Given the description of an element on the screen output the (x, y) to click on. 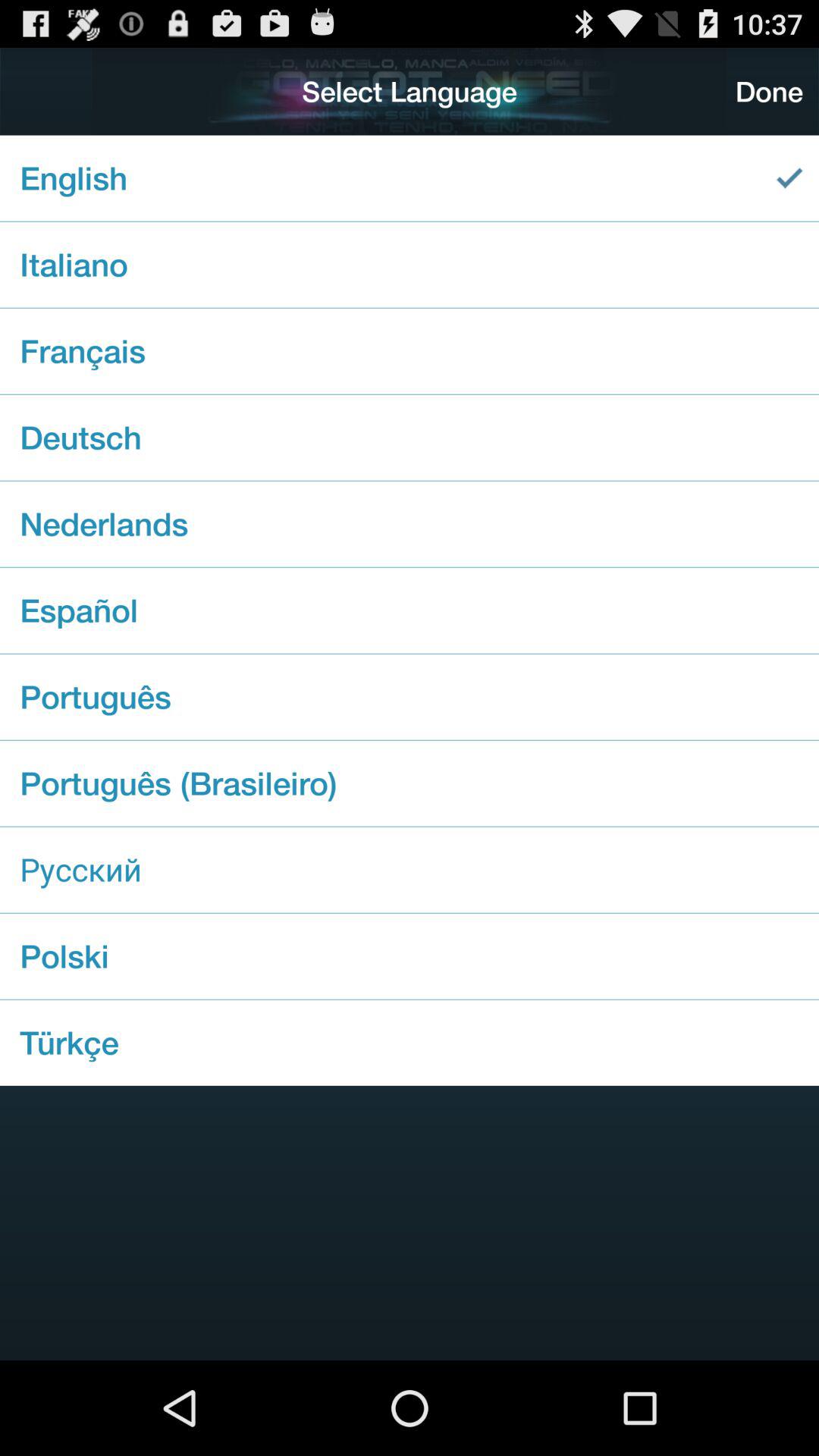
click the deutsch (409, 437)
